Given the description of an element on the screen output the (x, y) to click on. 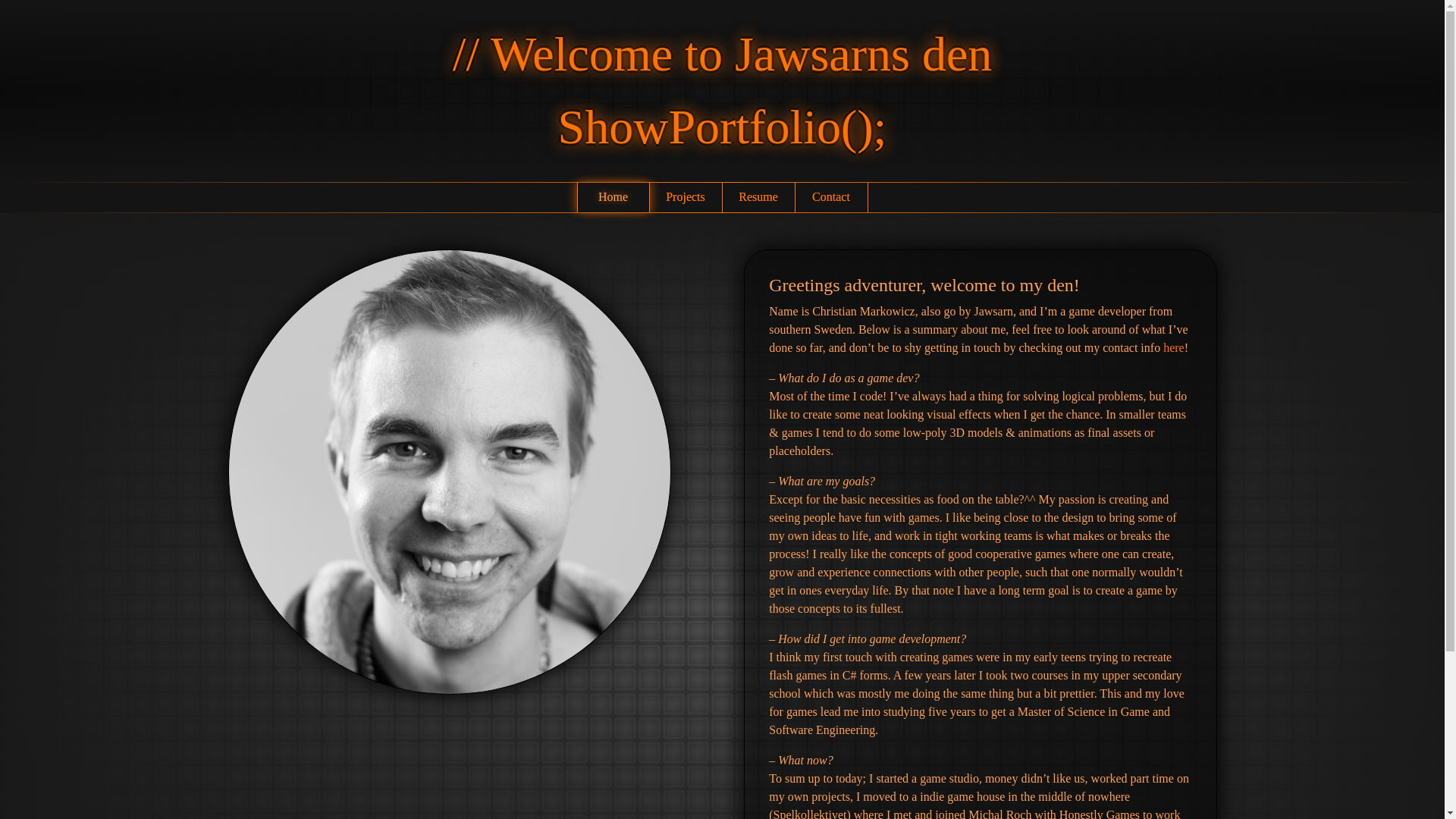
Projects (684, 196)
Home (613, 196)
Resume (757, 196)
here (1174, 347)
Contact (830, 196)
